Given the description of an element on the screen output the (x, y) to click on. 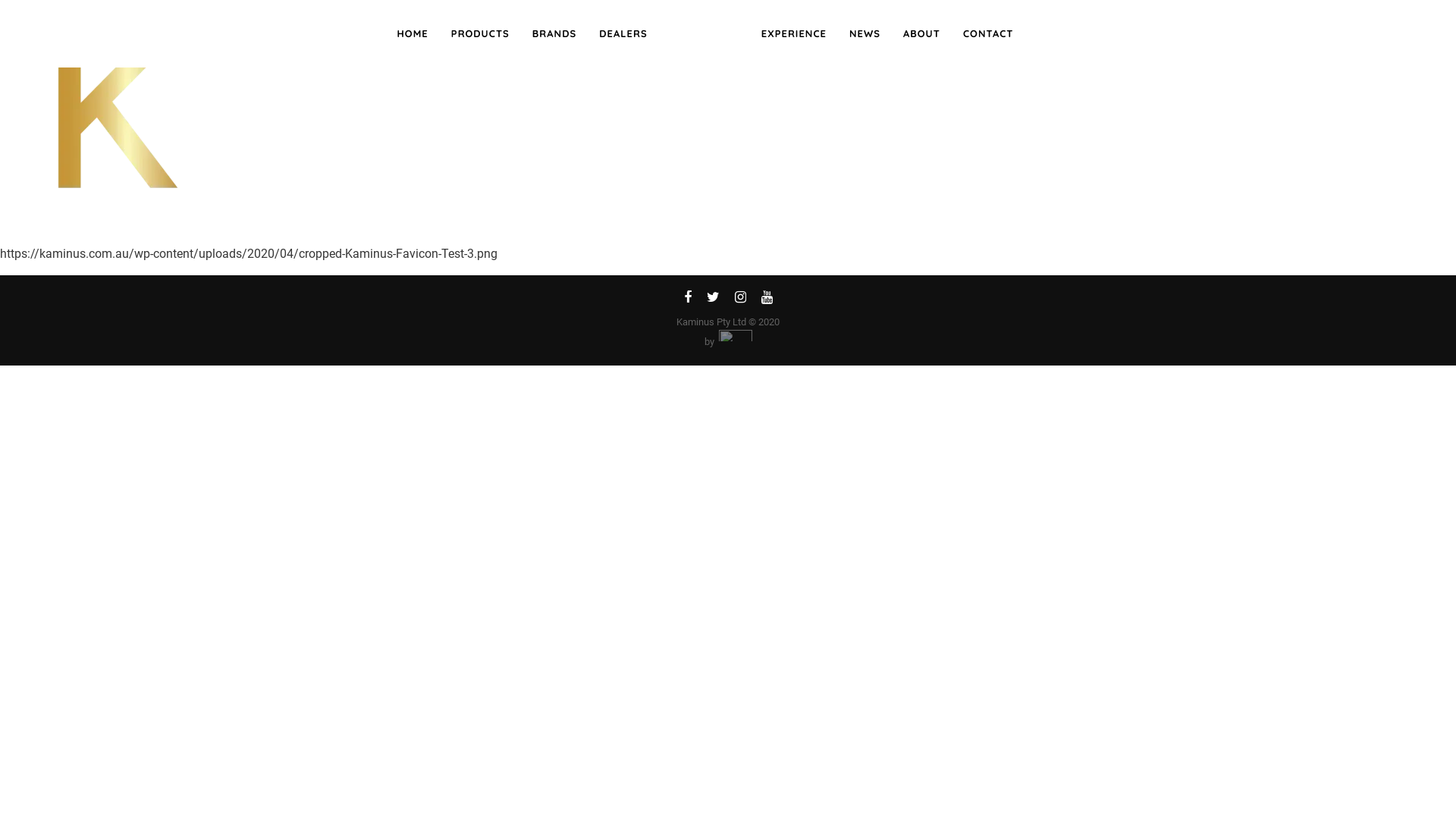
ABOUT Element type: text (921, 33)
Youtube Element type: hover (766, 299)
BRANDS Element type: text (553, 33)
CONTACT Element type: text (988, 33)
Facebook Element type: hover (687, 299)
Twitter Element type: hover (713, 299)
PRODUCTS Element type: text (479, 33)
EXPERIENCE Element type: text (793, 33)
NEWS Element type: text (864, 33)
HOME Element type: text (412, 33)
DEALERS Element type: text (622, 33)
Instagram Element type: hover (739, 299)
